Given the description of an element on the screen output the (x, y) to click on. 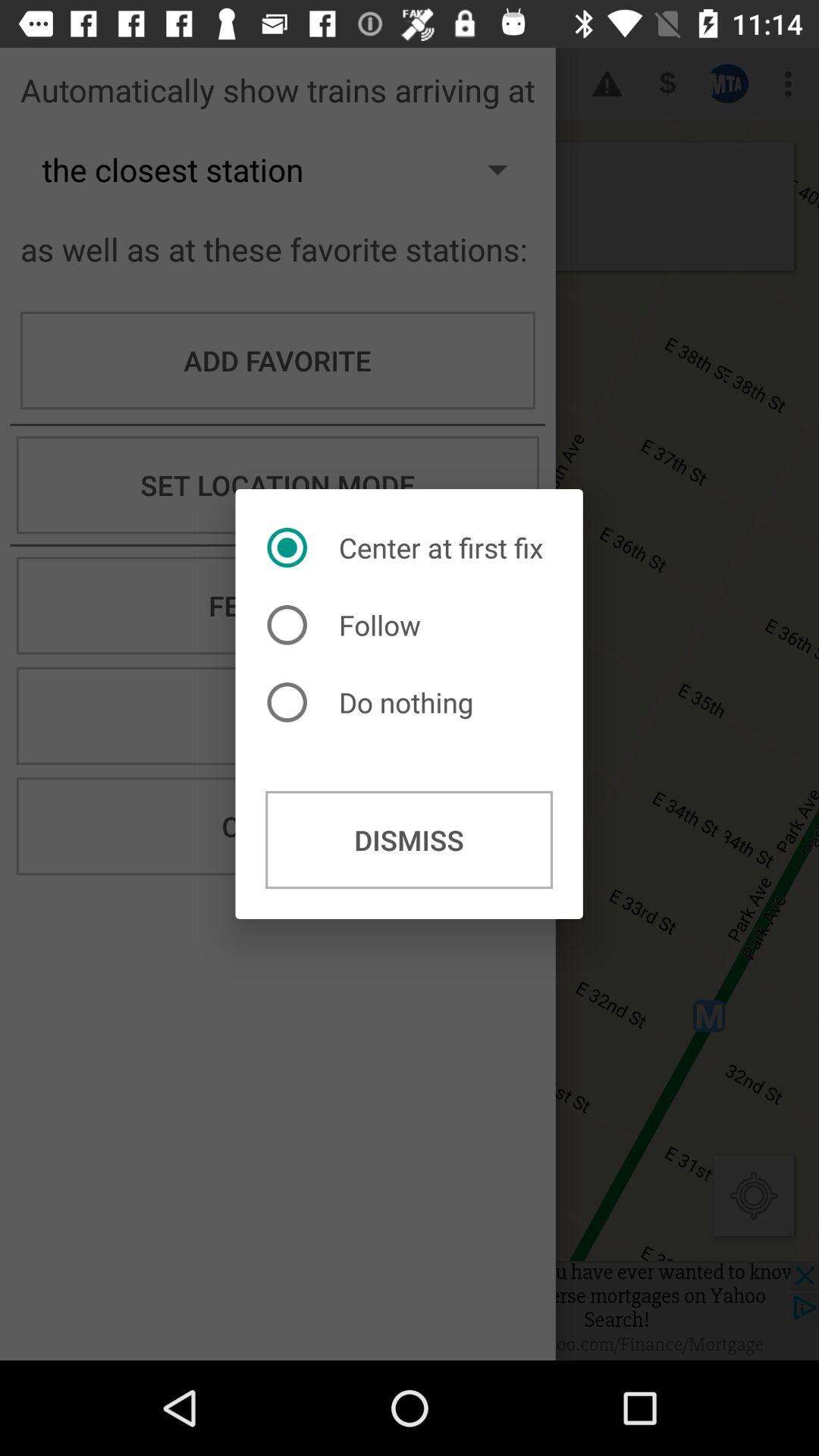
click do nothing item (374, 702)
